Given the description of an element on the screen output the (x, y) to click on. 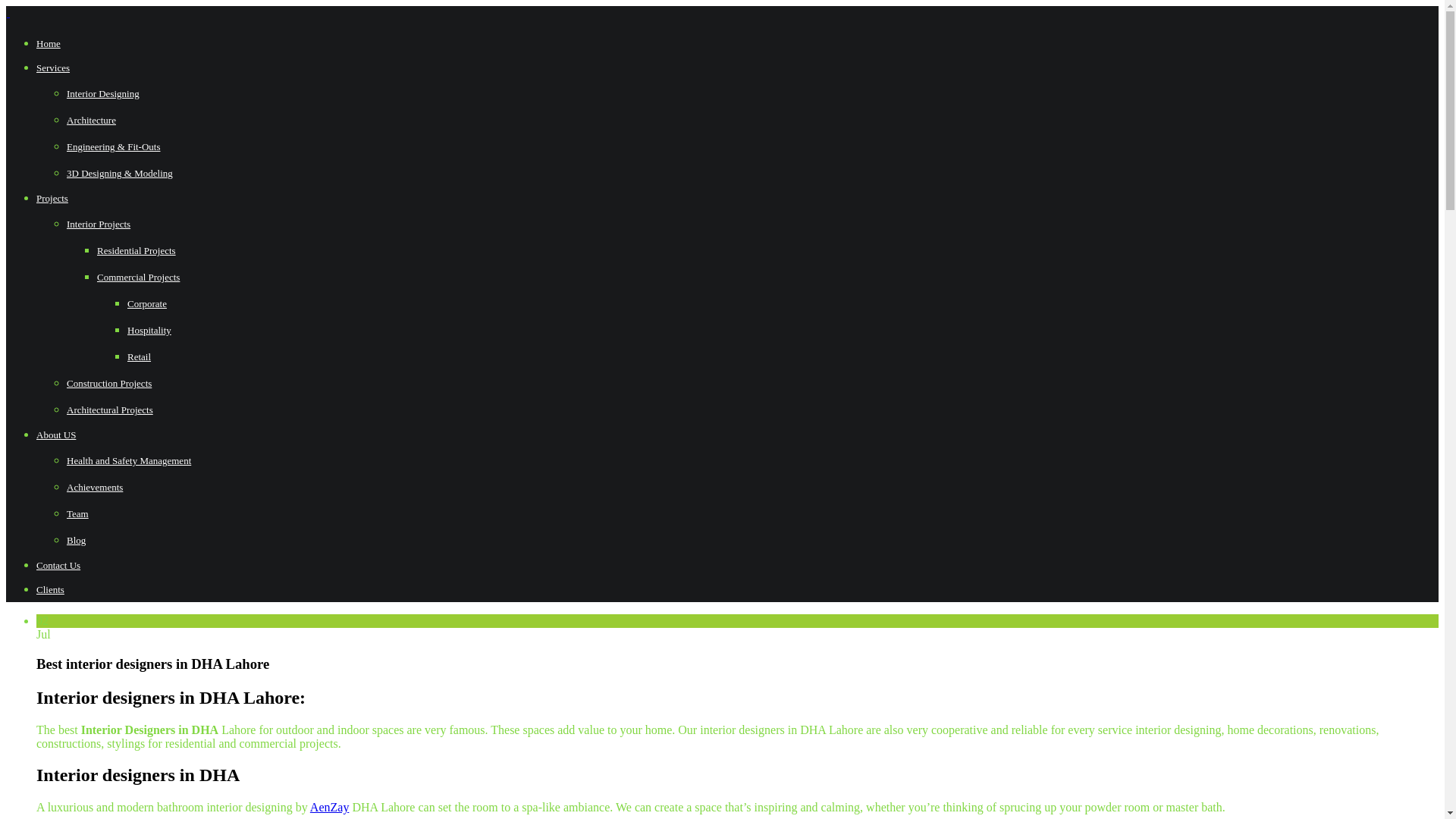
Clients (50, 589)
Contact Us (58, 564)
Achievements (94, 487)
About US (55, 434)
AenZay (329, 807)
Home (48, 43)
Commercial Projects (138, 276)
Projects (52, 197)
Team (77, 513)
Projects (52, 197)
Services (52, 67)
Corporate (147, 303)
Corporate (147, 303)
Architectural Projects (109, 409)
Health and Safety Management (128, 460)
